Given the description of an element on the screen output the (x, y) to click on. 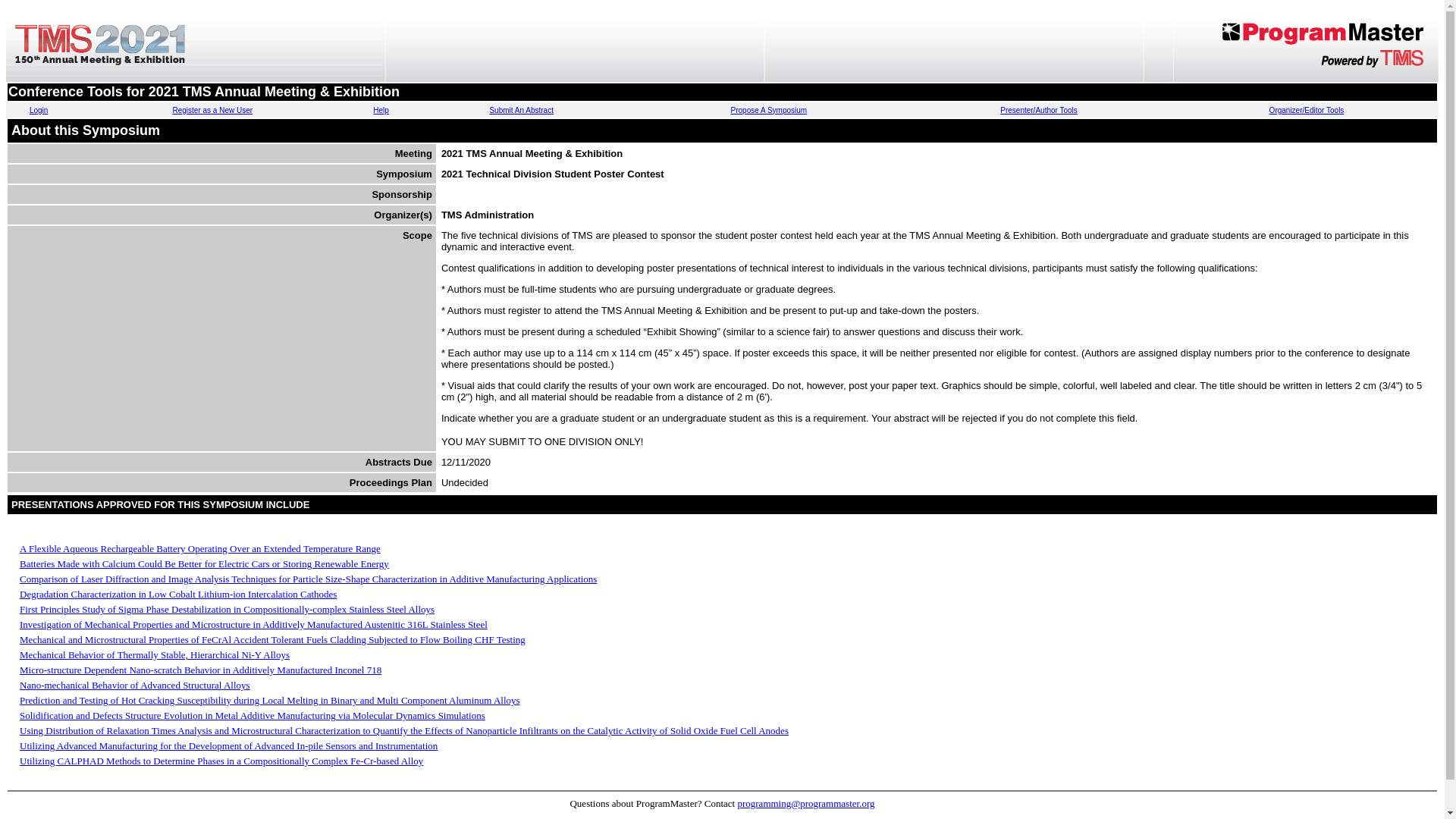
Propose A Symposium (769, 110)
Help (380, 110)
Register as a New User (211, 110)
Nano-mechanical Behavior of Advanced Structural Alloys (135, 685)
